Given the description of an element on the screen output the (x, y) to click on. 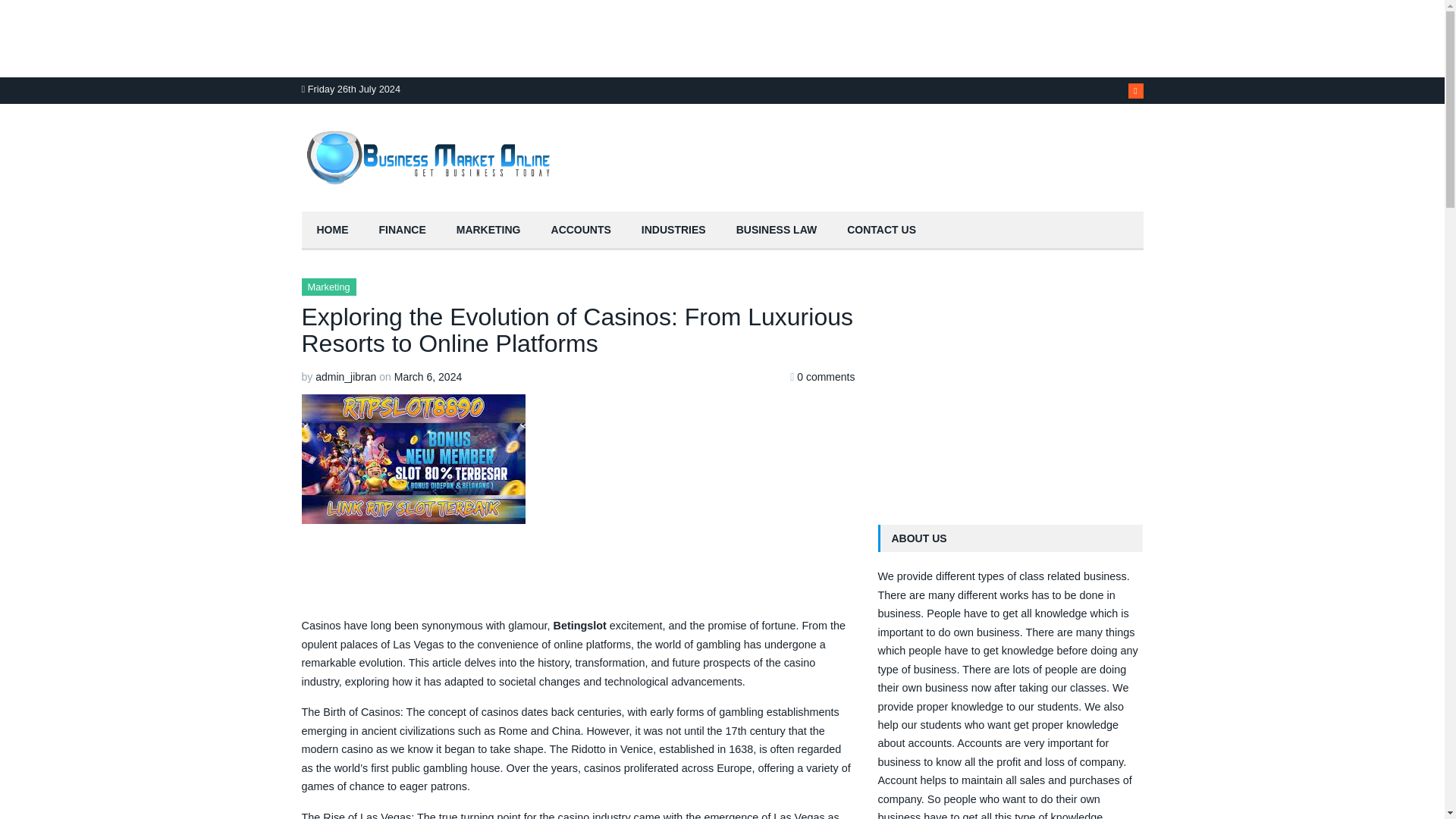
INDUSTRIES (673, 230)
Advertisement (1009, 384)
Marketing (328, 286)
Finance (402, 230)
Home (332, 230)
BUSINESS LAW (776, 230)
March 6, 2024 (428, 377)
ACCOUNTS (580, 230)
Business Law (776, 230)
Betingslot (579, 625)
0 comments (825, 377)
Marketing (488, 230)
FINANCE (402, 230)
Industries (673, 230)
HOME (332, 230)
